Given the description of an element on the screen output the (x, y) to click on. 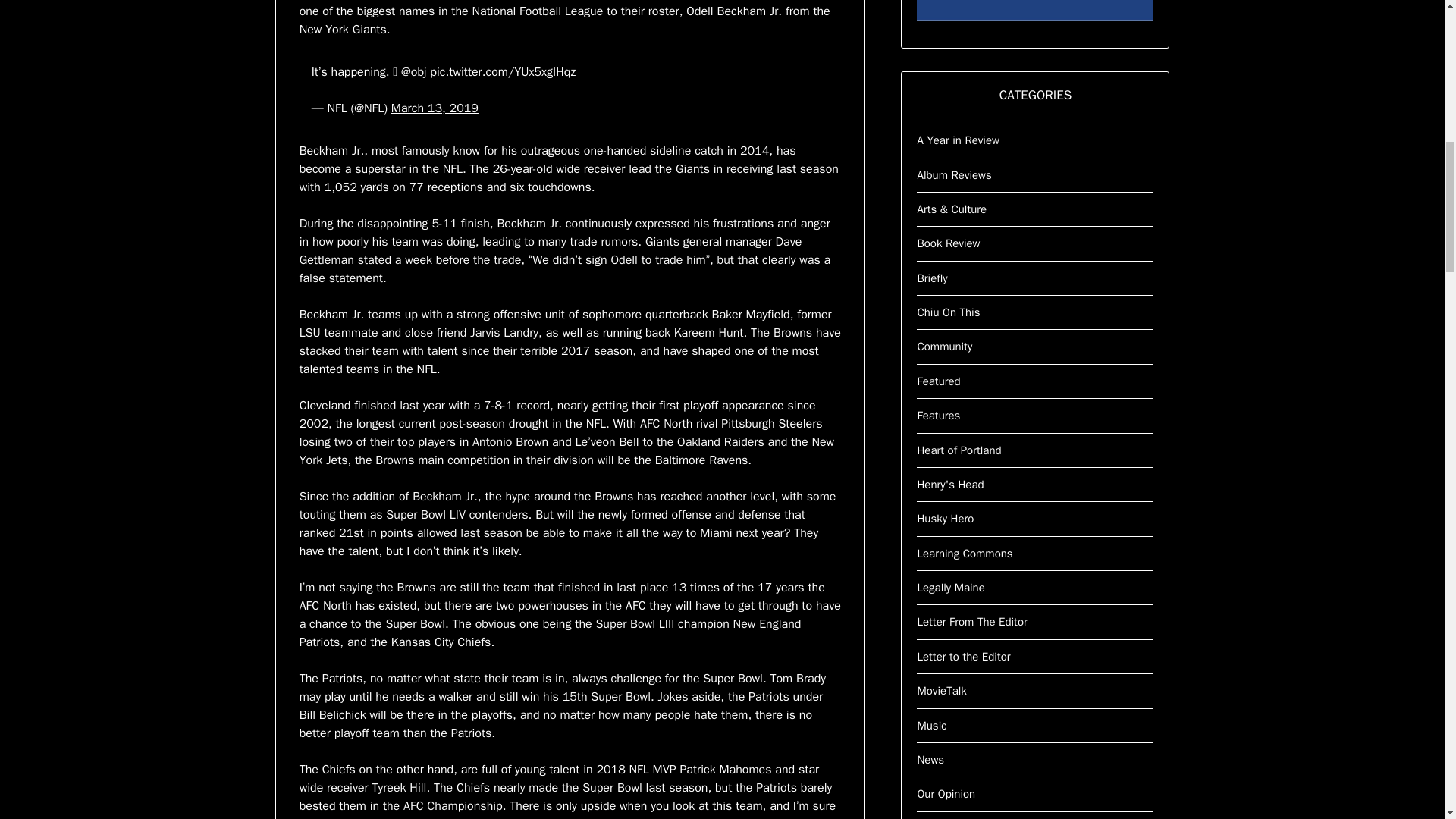
Briefly (932, 278)
Album Reviews (954, 174)
Featured (938, 381)
Book Review (948, 243)
Features (938, 415)
Chiu On This (948, 312)
March 13, 2019 (435, 108)
A Year in Review (957, 140)
Community (944, 345)
